Given the description of an element on the screen output the (x, y) to click on. 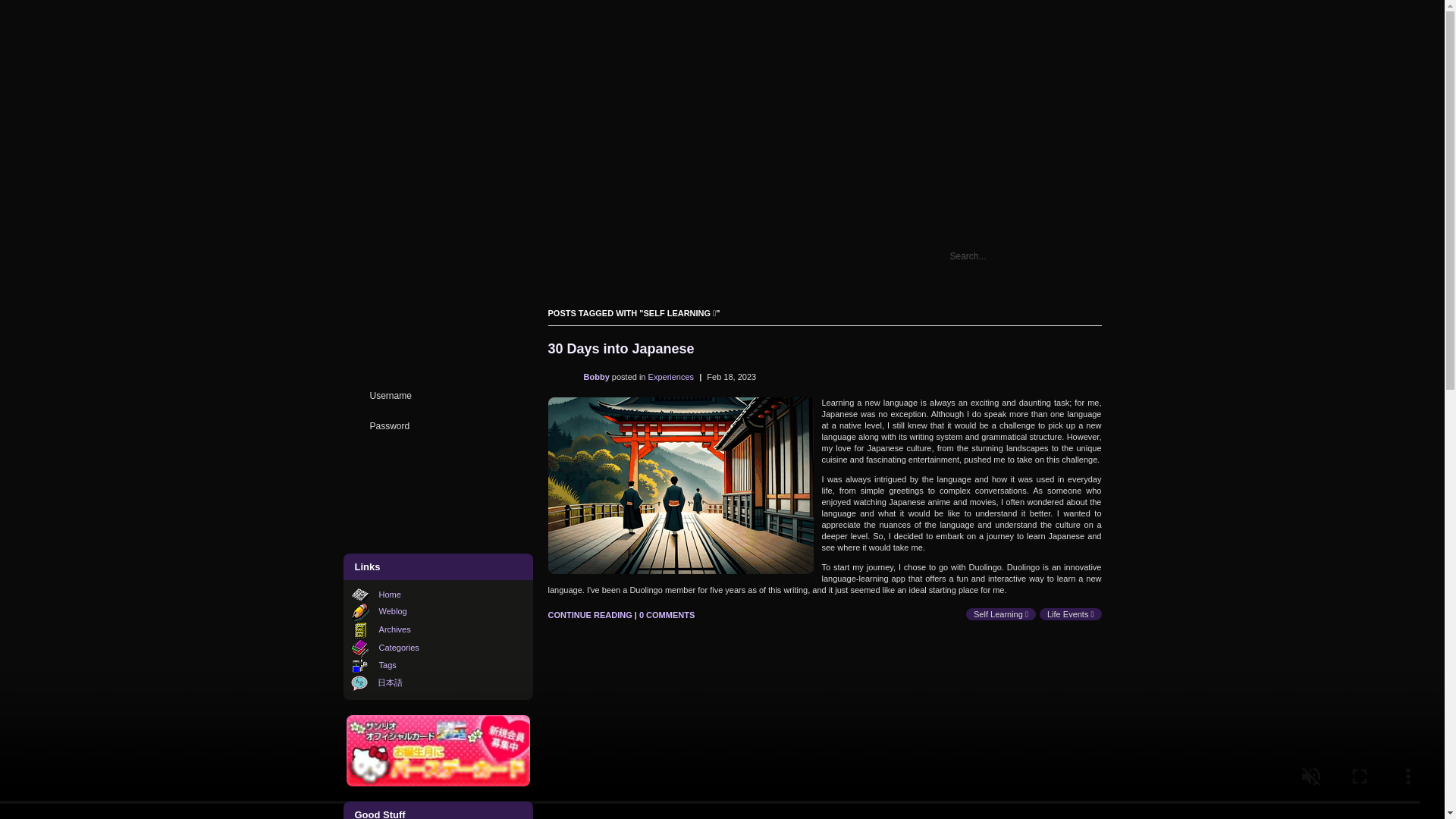
Categories (398, 646)
Archives (394, 628)
Tags (387, 664)
0 COMMENTS (666, 614)
30 Days into Japanese (620, 348)
Experiences (672, 376)
Home (389, 593)
CONTINUE READING (589, 614)
Bobby (597, 376)
Weblog (392, 610)
